Given the description of an element on the screen output the (x, y) to click on. 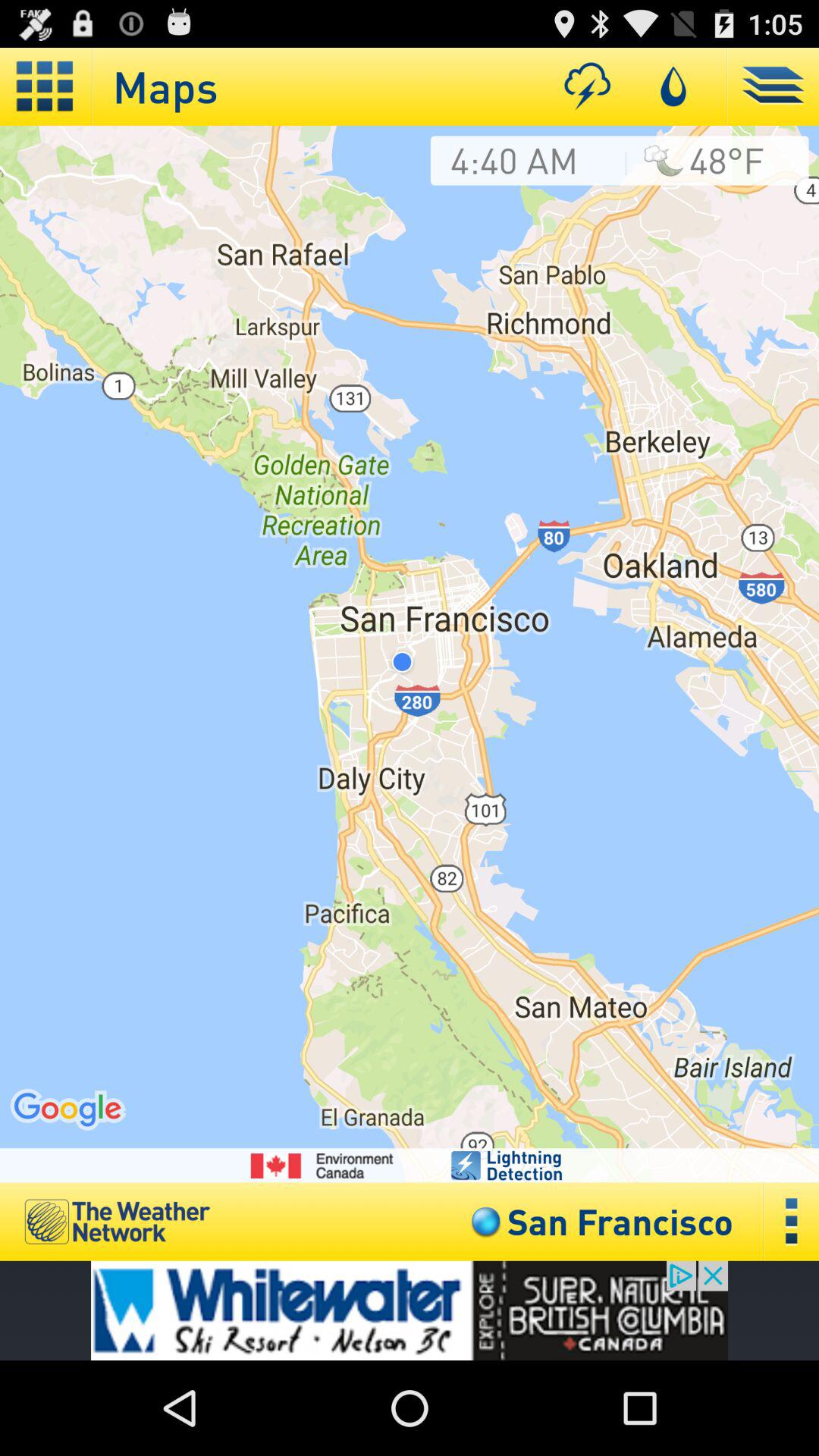
settings option (791, 1221)
